Given the description of an element on the screen output the (x, y) to click on. 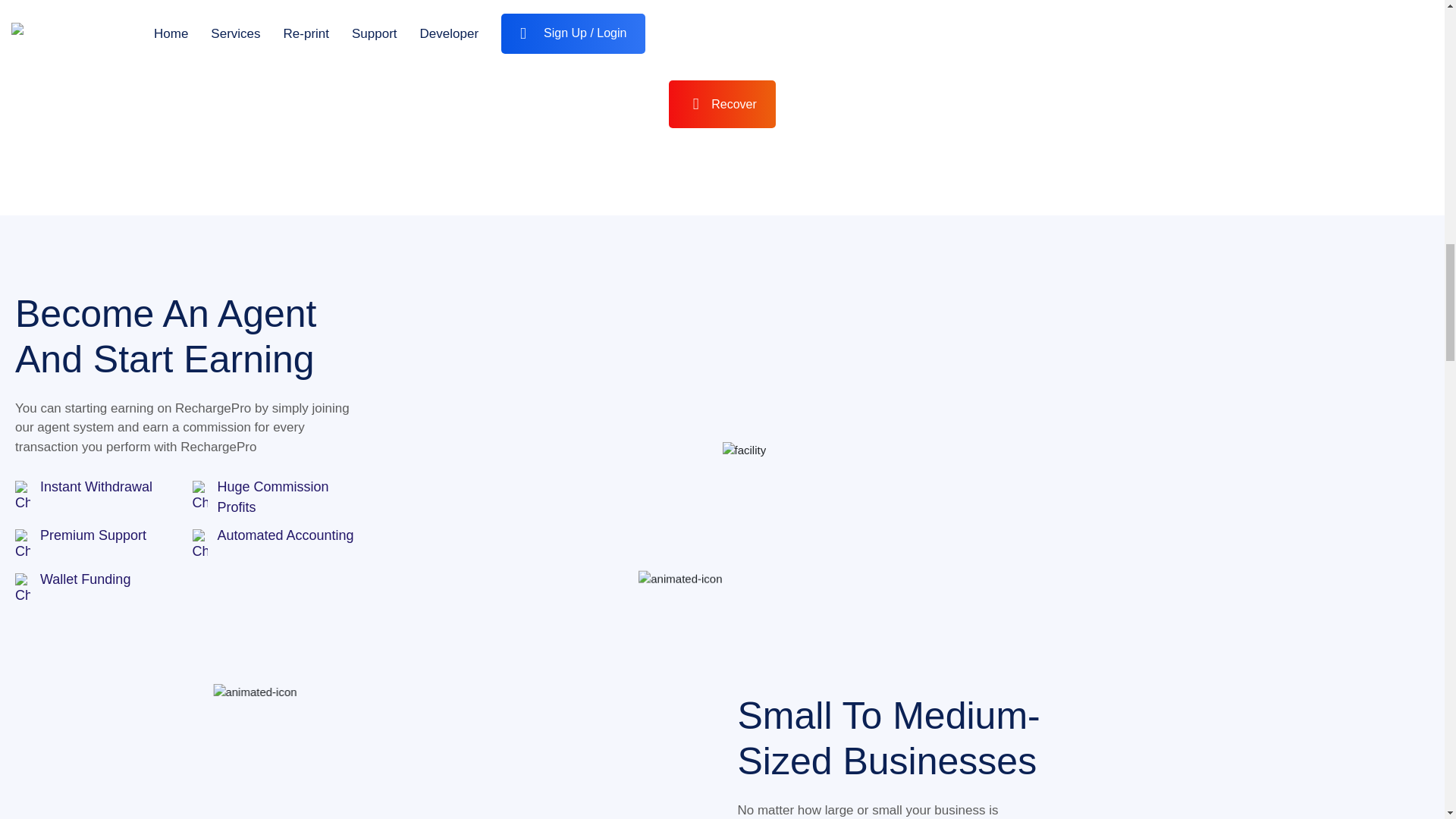
Recover (722, 103)
